Given the description of an element on the screen output the (x, y) to click on. 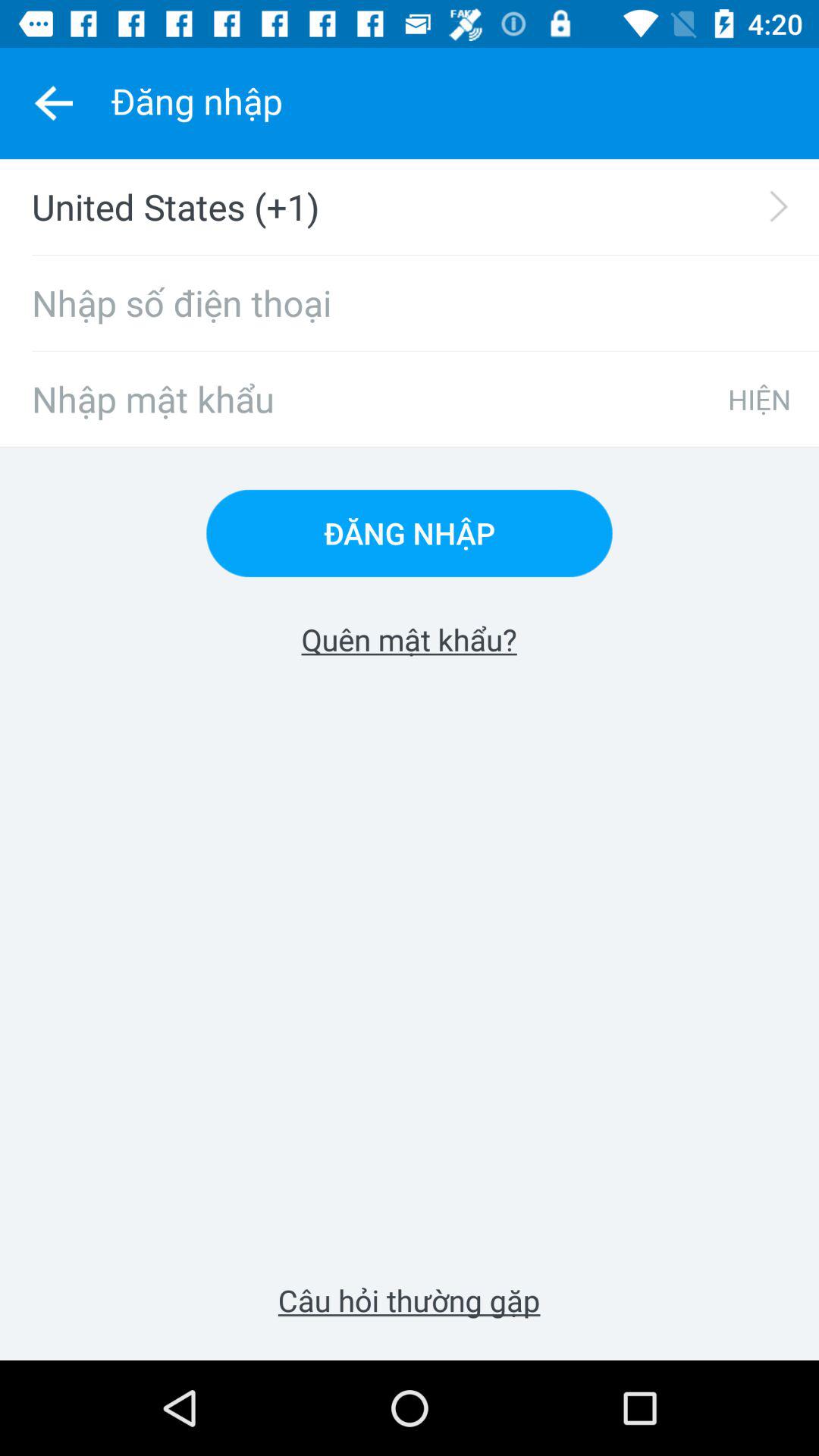
launch icon at the top right corner (759, 399)
